Given the description of an element on the screen output the (x, y) to click on. 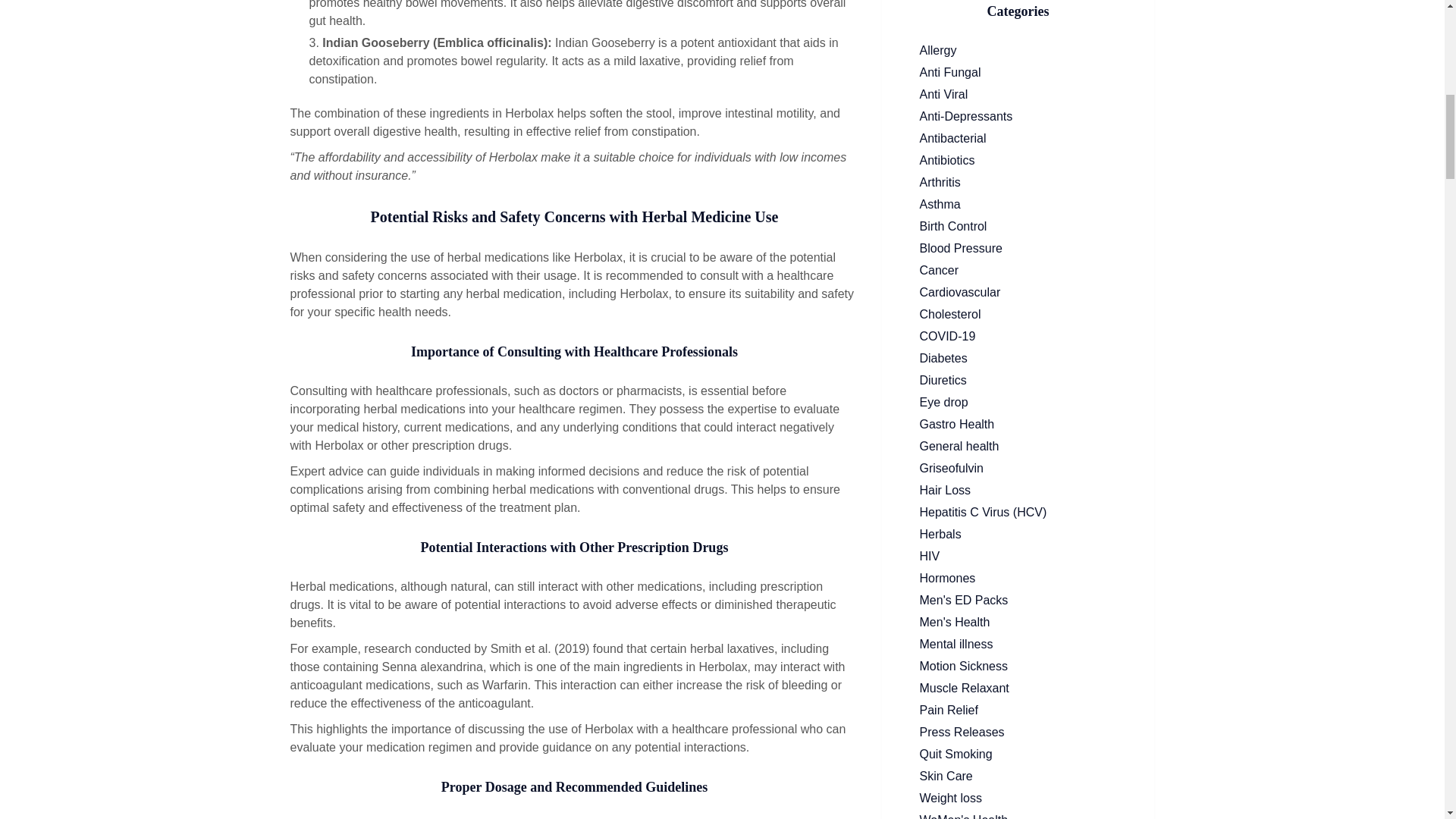
Asthma (1017, 204)
Cardiovascular (1017, 292)
Allergy (1017, 50)
Anti Viral (1017, 94)
Cancer (1017, 270)
Anti-Depressants (1017, 116)
Birth Control (1017, 226)
Cholesterol (1017, 314)
Antibacterial (1017, 138)
Anti Fungal (1017, 72)
Arthritis (1017, 182)
Antibiotics (1017, 160)
COVID-19 (1017, 336)
Blood Pressure (1017, 248)
